Given the description of an element on the screen output the (x, y) to click on. 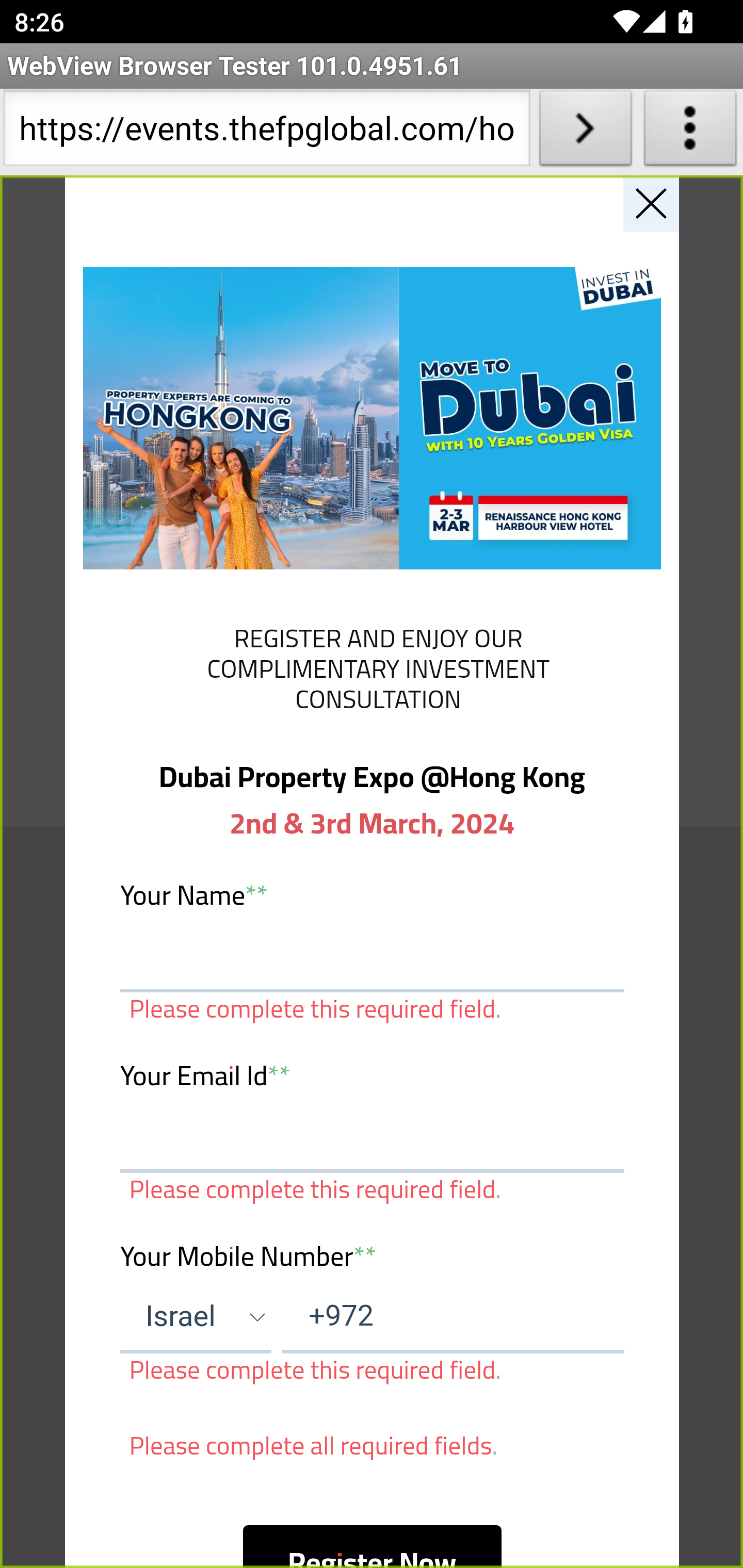
Load URL (585, 132)
About WebView (690, 132)
 REGISTER NOW (371, 666)
Israel (‫ישראל‬‎) (195, 1316)
